Given the description of an element on the screen output the (x, y) to click on. 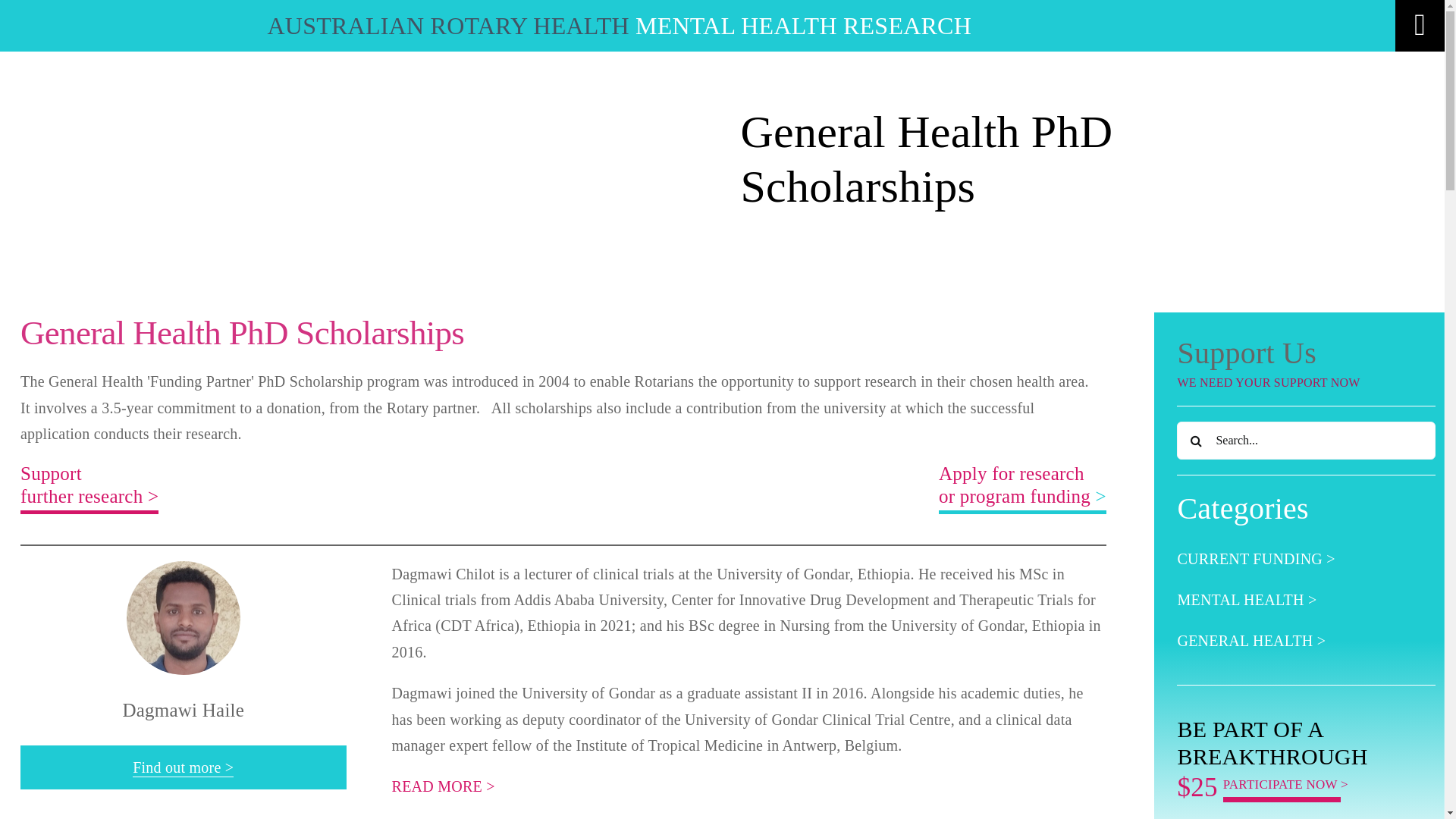
PARTICIPATE NOW > Element type: text (1285, 784)
Find out more > Element type: text (182, 768)
Support
further research > Element type: text (89, 488)
READ MORE > Element type: text (443, 786)
AUSTRALIAN ROTARY HEALTH MENTAL HEALTH RESEARCH Element type: text (618, 25)
Apply for research
or program funding > Element type: text (1022, 488)
